Given the description of an element on the screen output the (x, y) to click on. 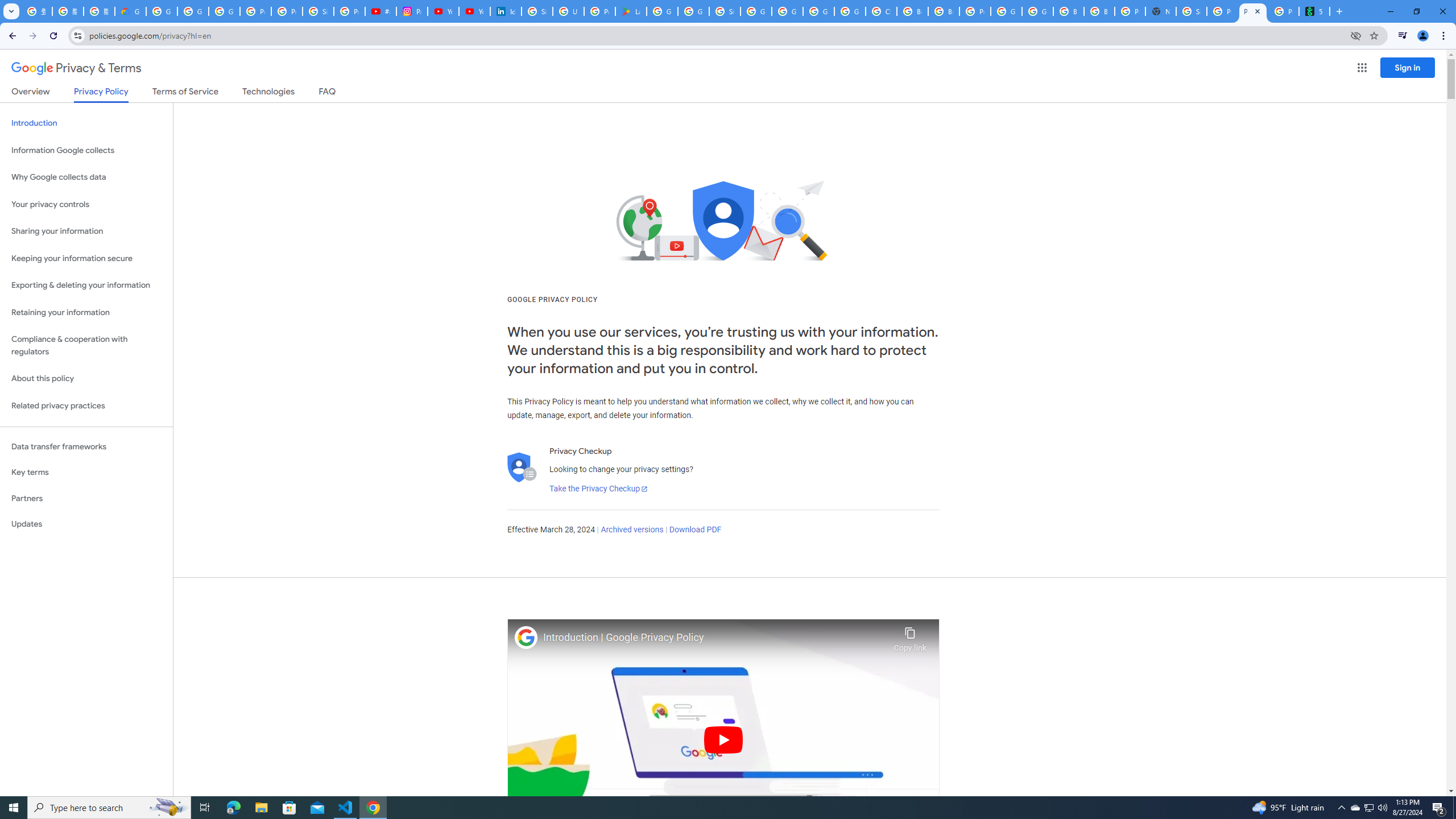
Copy link (909, 636)
Google Cloud Platform (1005, 11)
Browse Chrome as a guest - Computer - Google Chrome Help (1068, 11)
